Given the description of an element on the screen output the (x, y) to click on. 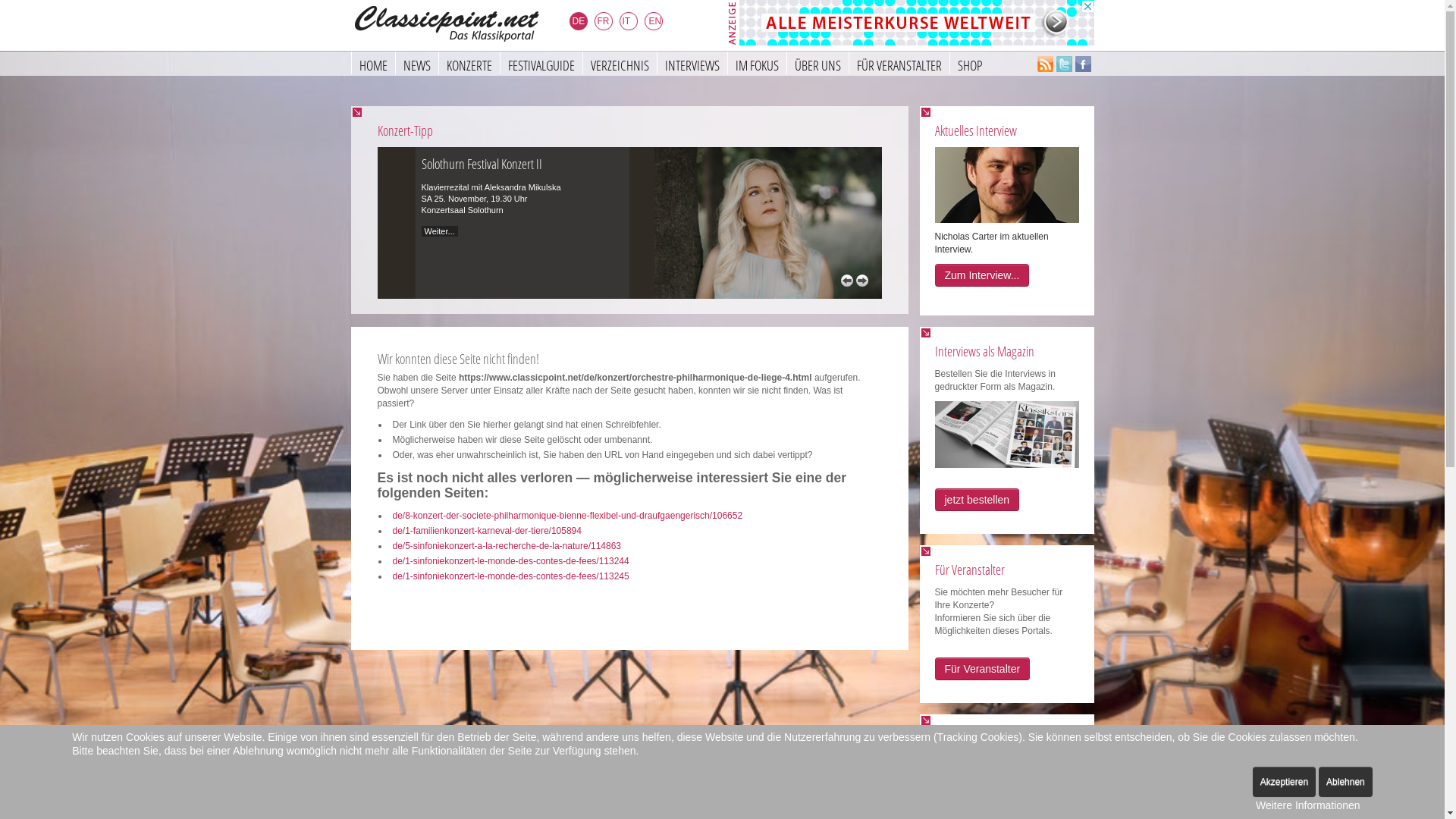
INTERVIEWS Element type: text (691, 62)
jetzt bestellen Element type: text (976, 499)
3rd party ad content Element type: hover (915, 22)
Akzeptieren Element type: text (1283, 781)
de/1-familienkonzert-karneval-der-tiere/105894 Element type: text (486, 530)
KONZERTE Element type: text (468, 62)
IM FOKUS Element type: text (755, 62)
Solothurn Festival Konzert II Element type: text (481, 163)
HOME Element type: text (372, 62)
EN Element type: text (656, 24)
IT Element type: text (630, 24)
de/1-sinfoniekonzert-le-monde-des-contes-de-fees/113244 Element type: text (510, 560)
Weiter... Element type: text (439, 230)
SHOP Element type: text (969, 62)
Next Element type: hover (861, 280)
NEWS Element type: text (415, 62)
Previous Element type: hover (846, 280)
VERZEICHNIS Element type: text (619, 62)
FR Element type: text (606, 24)
Weitere Informationen Element type: text (1307, 805)
Ablehnen Element type: text (1345, 781)
Zum Interview... Element type: text (981, 274)
de/5-sinfoniekonzert-a-la-recherche-de-la-nature/114863 Element type: text (506, 545)
DE Element type: text (580, 24)
de/1-sinfoniekonzert-le-monde-des-contes-de-fees/113245 Element type: text (510, 576)
FESTIVALGUIDE Element type: text (539, 62)
